Given the description of an element on the screen output the (x, y) to click on. 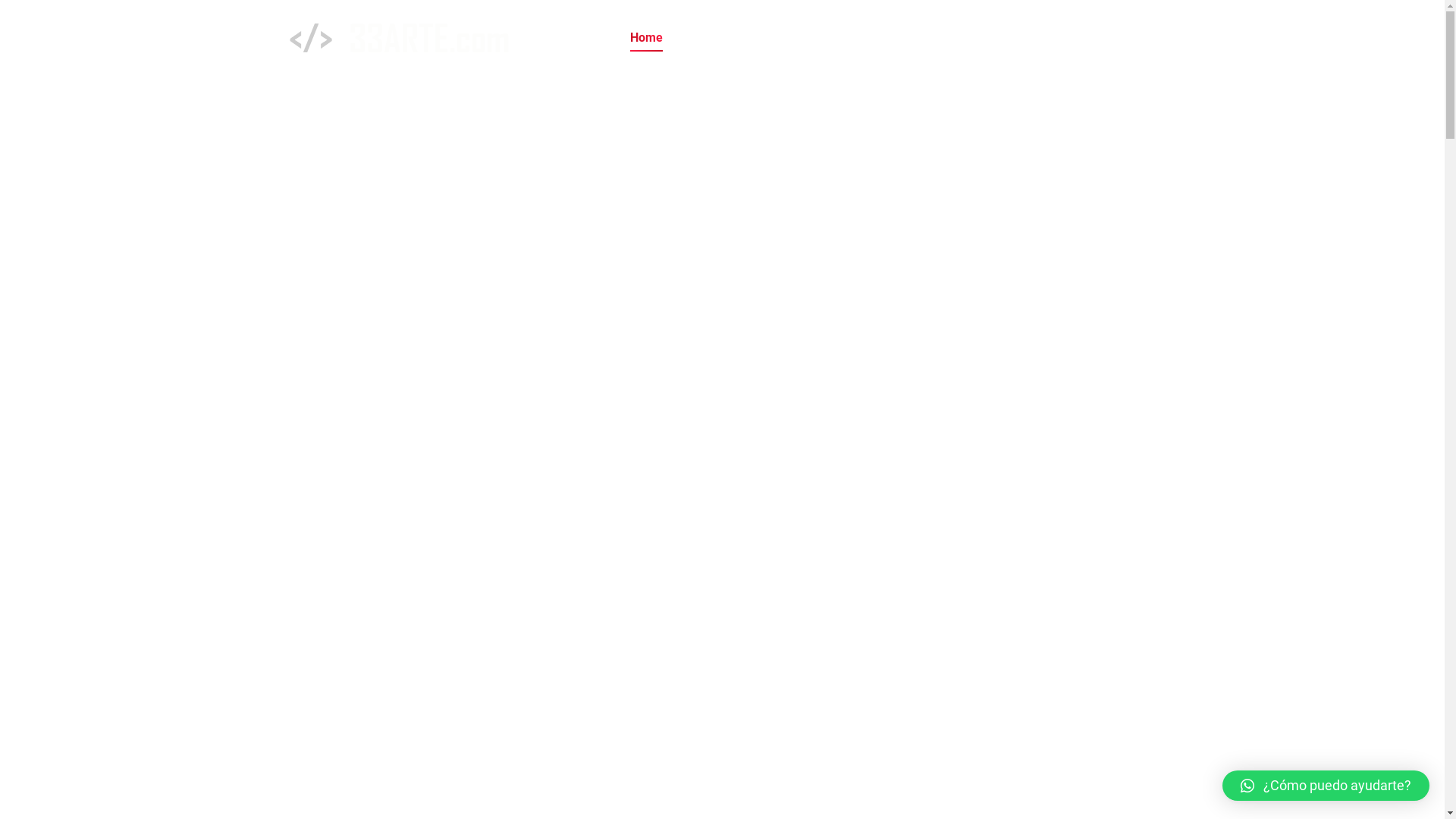
Facebook page opens in new window Element type: text (1080, 37)
Agencia Element type: text (715, 37)
Instagram page opens in new window Element type: text (1103, 37)
Soluciones Element type: text (797, 37)
Home Element type: text (645, 37)
Whatsapp page opens in new window Element type: text (1148, 37)
Linkedin page opens in new window Element type: text (1125, 37)
Productos Element type: text (885, 37)
Contacto Element type: text (967, 37)
